Given the description of an element on the screen output the (x, y) to click on. 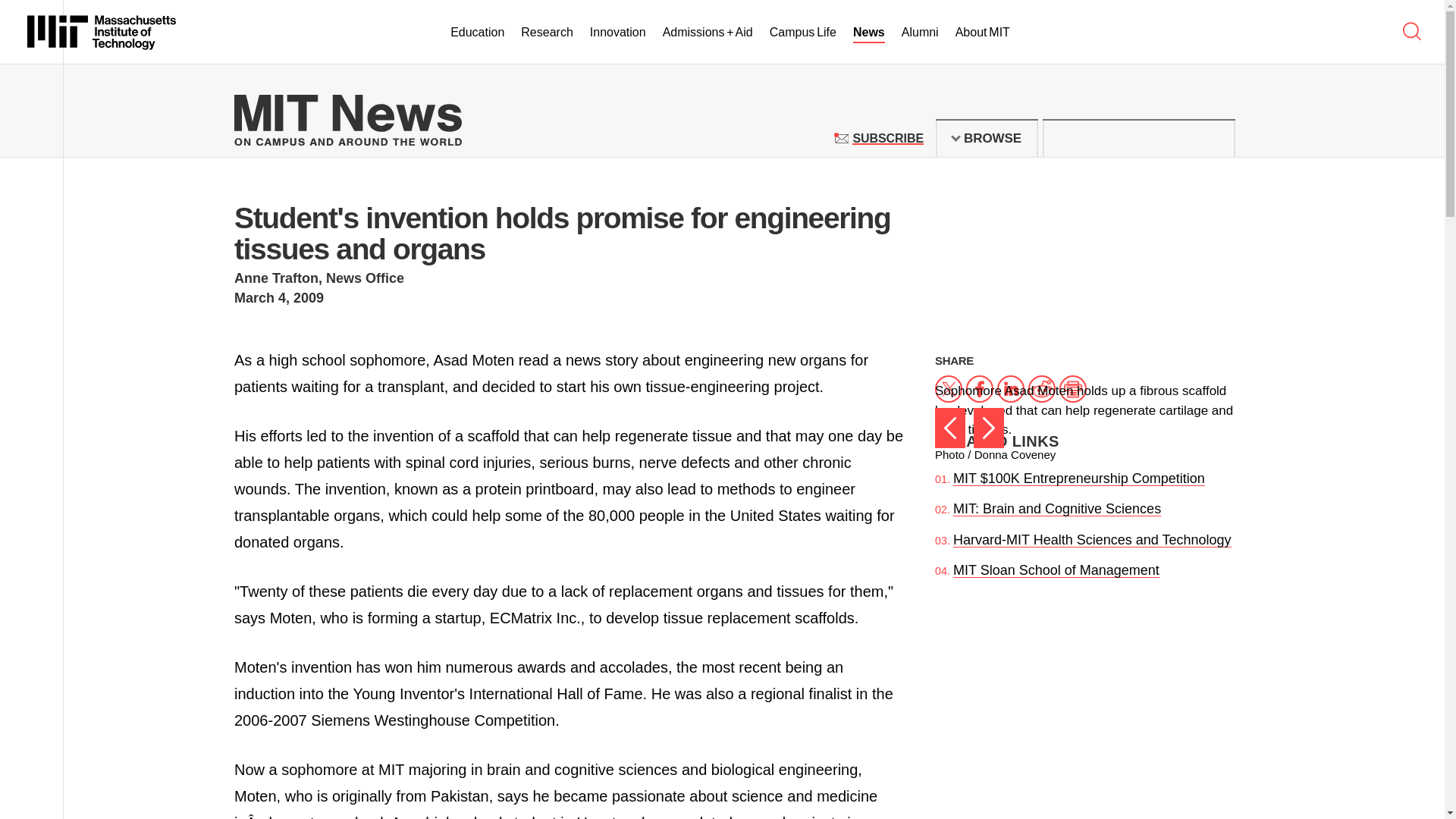
Submit (1214, 138)
Campus Life (802, 32)
Massachusetts Institute of Technology (101, 32)
BROWSE (987, 138)
